Given the description of an element on the screen output the (x, y) to click on. 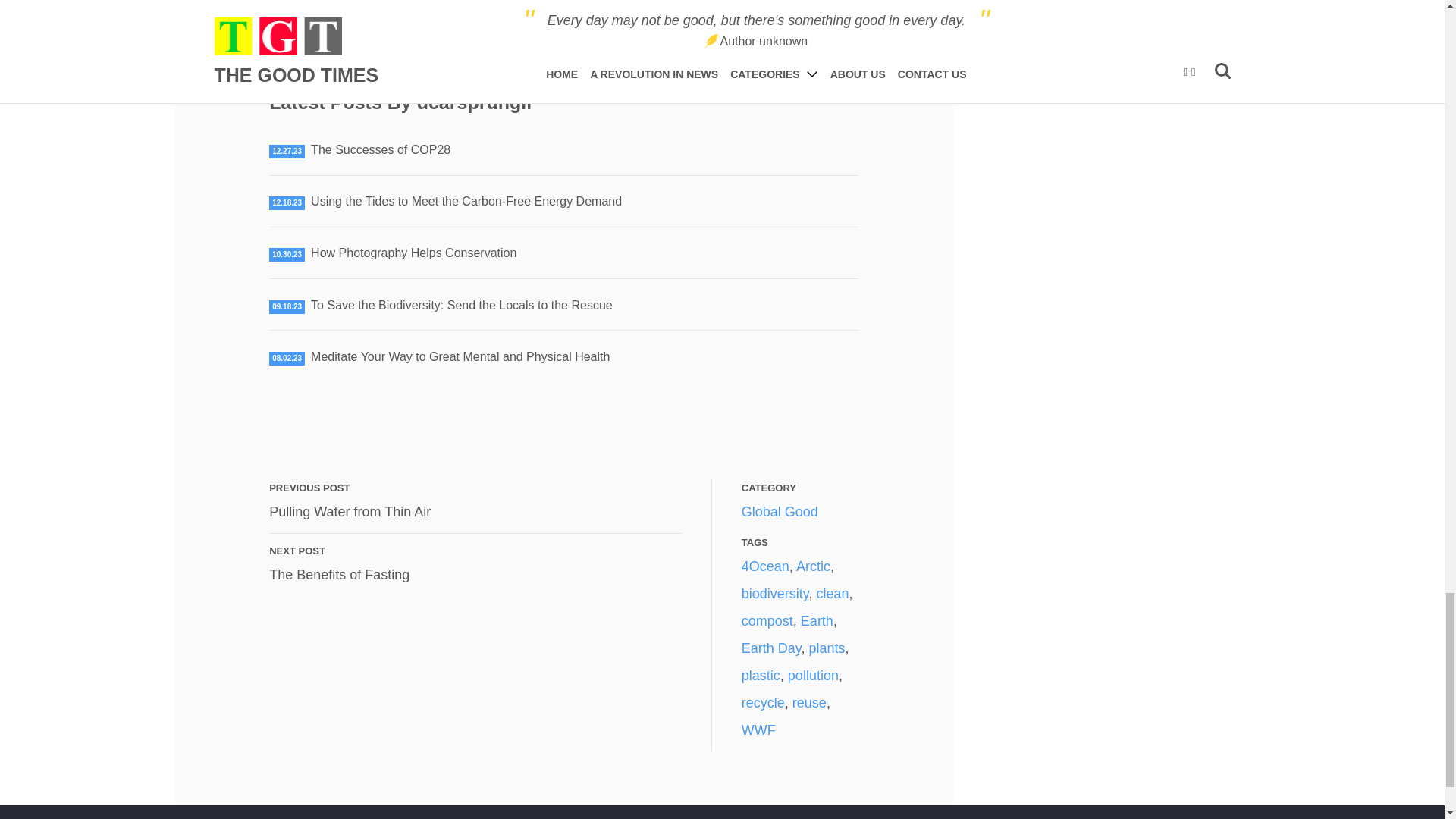
4Ocean (765, 566)
Meditate Your Way to Great Mental and Physical Health (349, 511)
The Successes of COP28 (339, 574)
Using the Tides to Meet the Carbon-Free Energy Demand (460, 356)
How Photography Helps Conservation (380, 149)
Global Good (466, 201)
To Save the Biodiversity: Send the Locals to the Rescue (413, 252)
